Given the description of an element on the screen output the (x, y) to click on. 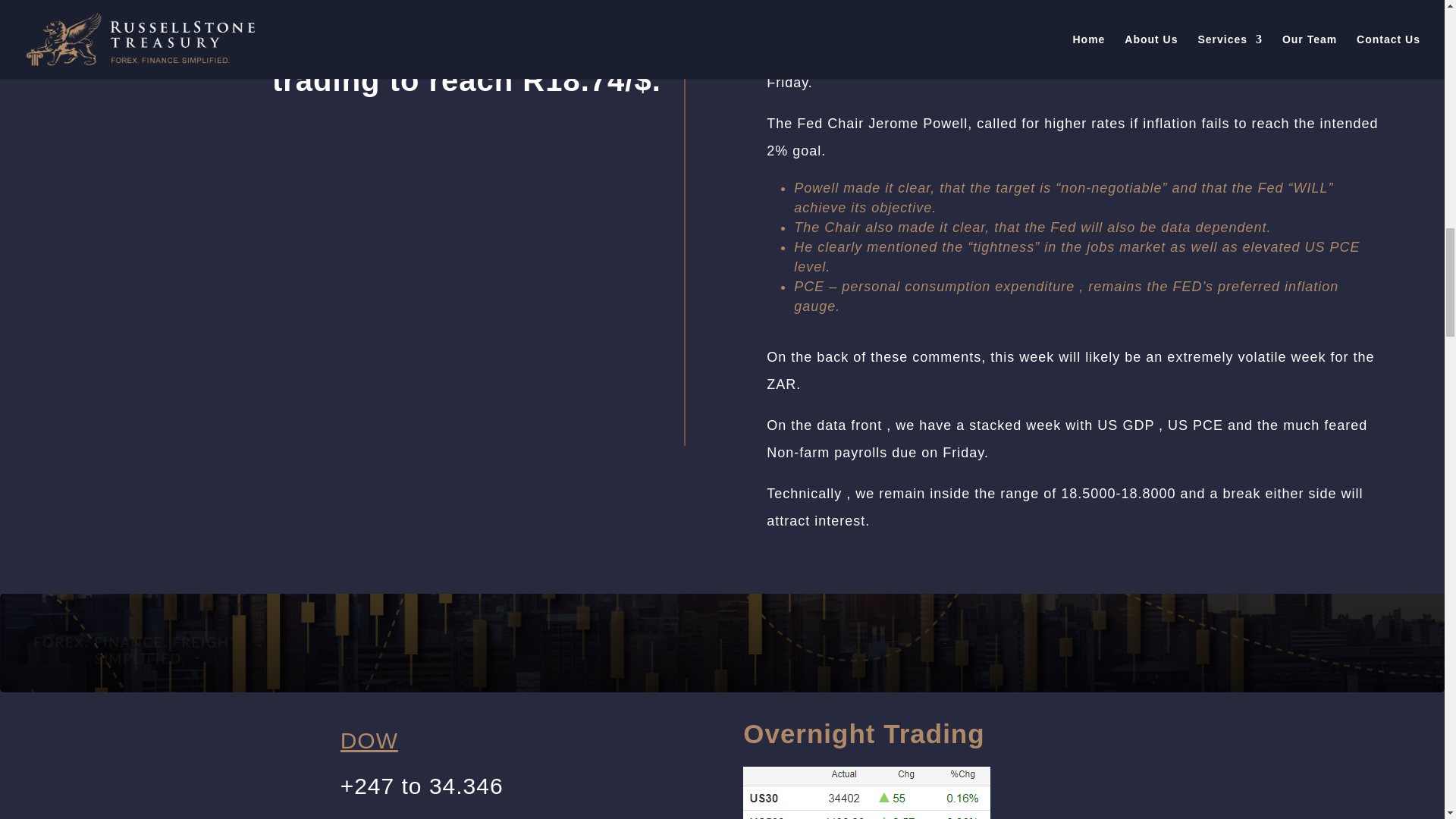
RST - 2 28082023 (866, 792)
